Given the description of an element on the screen output the (x, y) to click on. 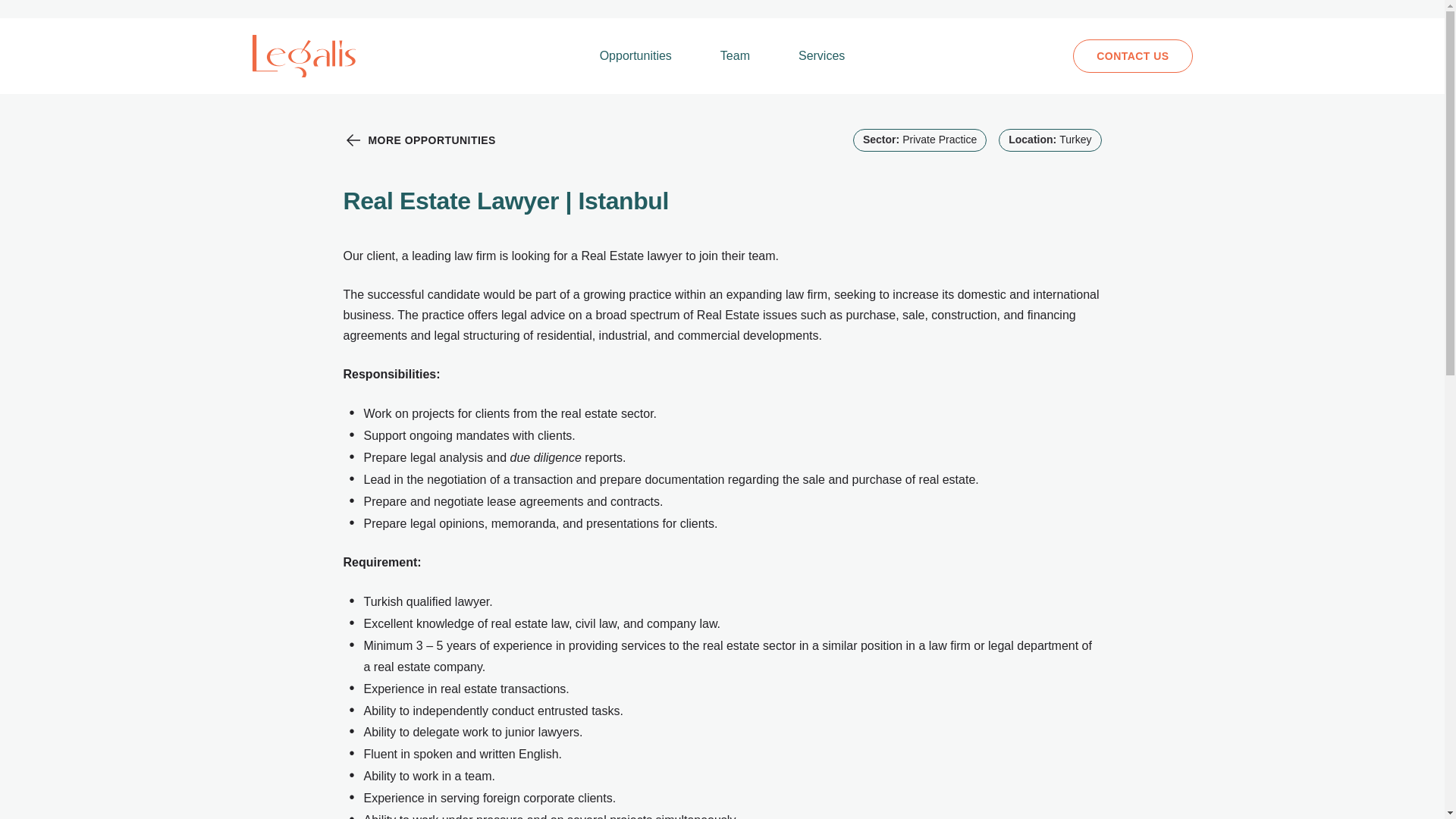
Team (734, 55)
Opportunities (636, 55)
Services (821, 55)
CONTACT US (1132, 55)
MORE OPPORTUNITIES (419, 140)
